Given the description of an element on the screen output the (x, y) to click on. 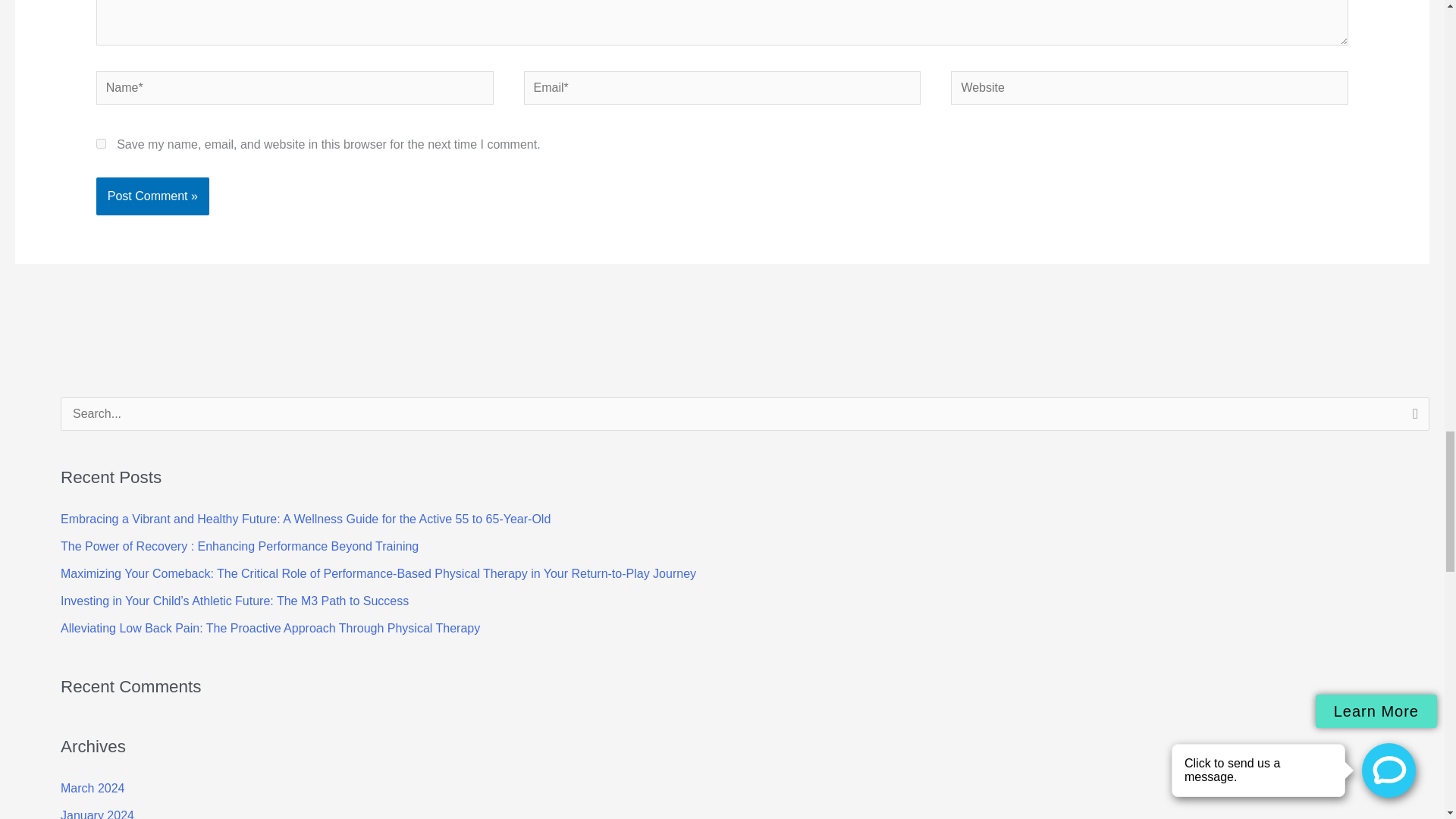
Search (1411, 418)
yes (101, 143)
Search (1411, 418)
Search (1411, 418)
